Given the description of an element on the screen output the (x, y) to click on. 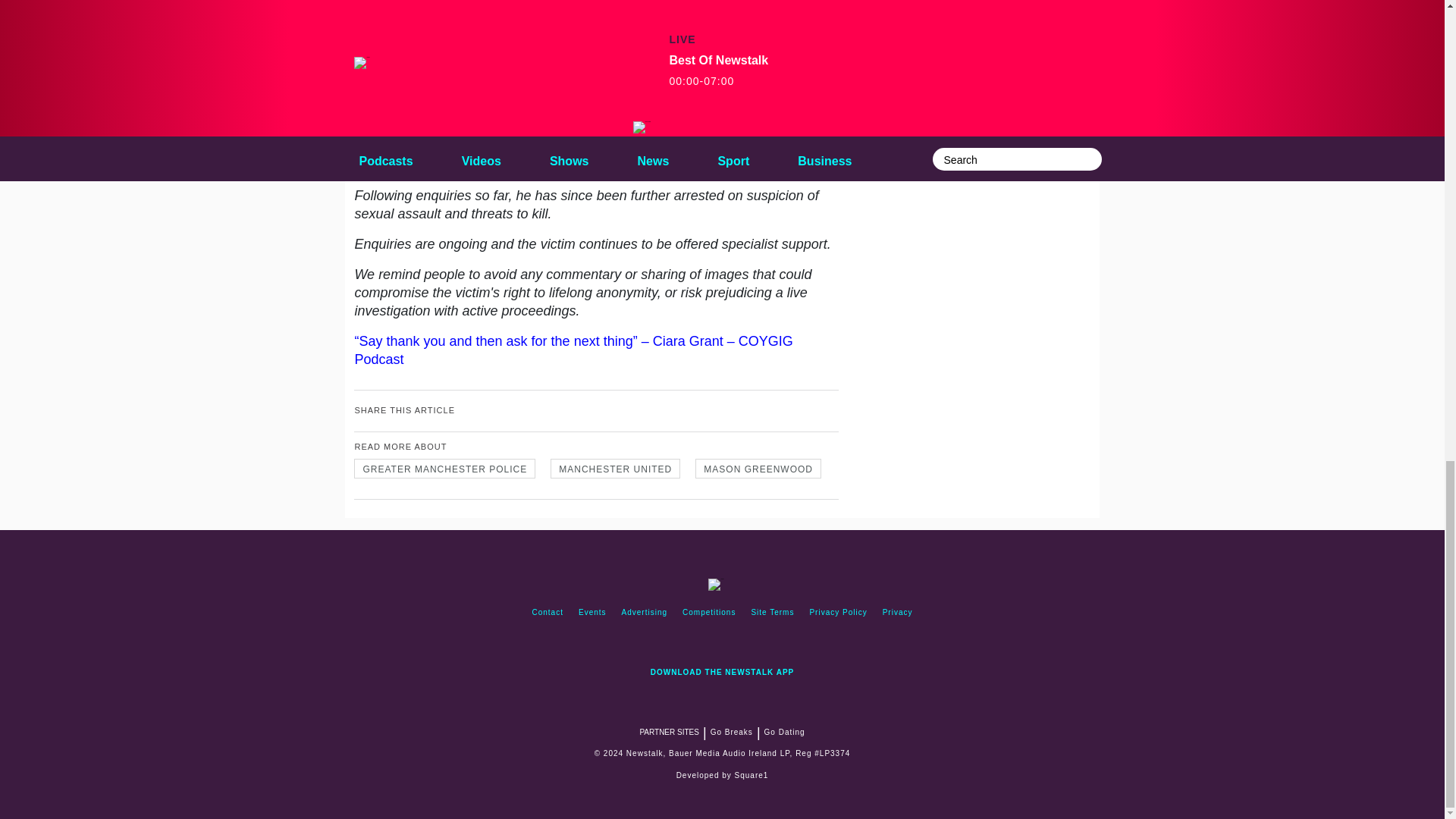
site terms (772, 612)
events (592, 612)
Competitions (708, 612)
competitions (708, 612)
Events (592, 612)
Site Terms (772, 612)
Privacy (897, 612)
Contact (547, 612)
contact (547, 612)
GREATER MANCHESTER POLICE (444, 468)
